Given the description of an element on the screen output the (x, y) to click on. 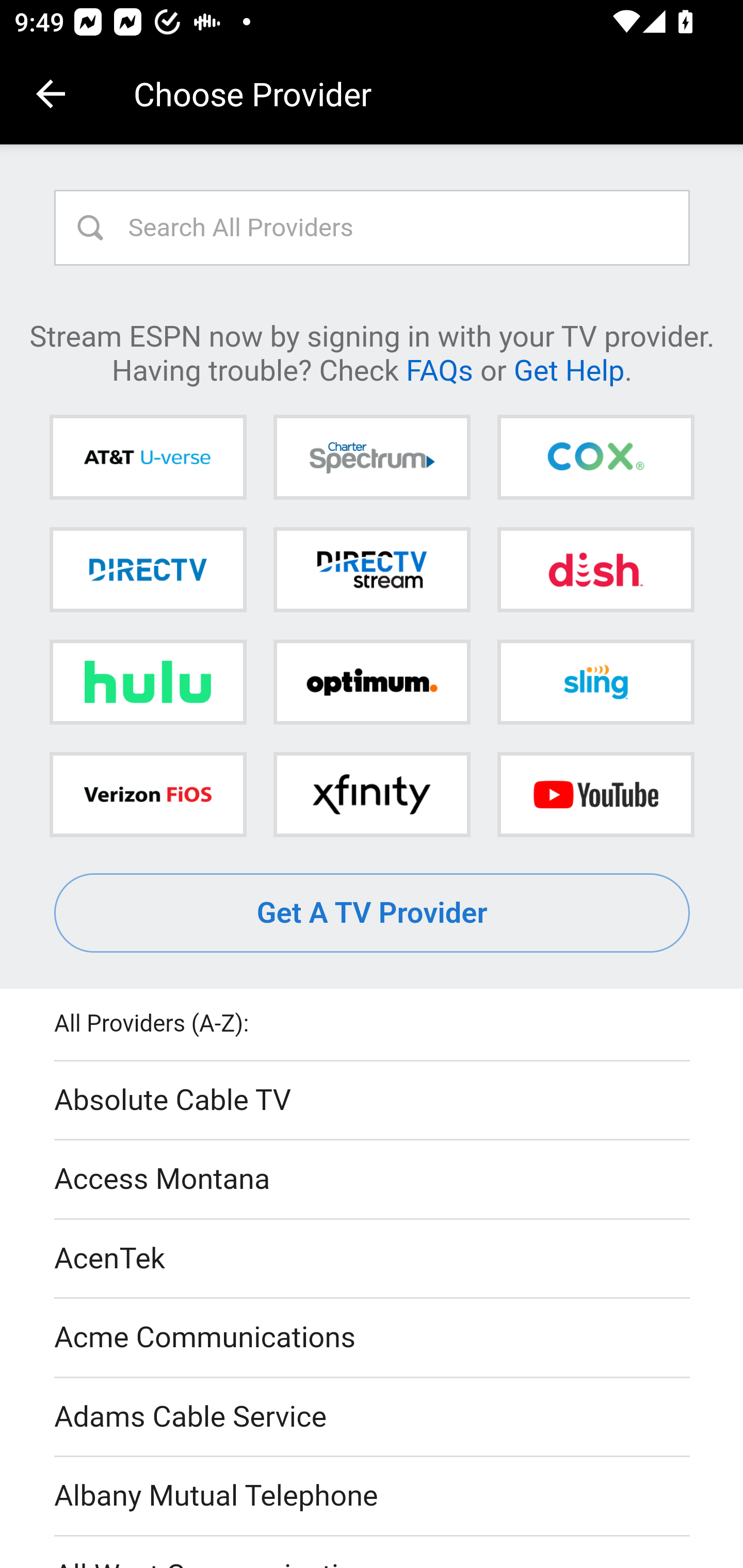
Navigate up (50, 93)
FAQs (438, 369)
Get Help (569, 369)
AT&T U-verse (147, 457)
Charter Spectrum (371, 457)
Cox (595, 457)
DIRECTV (147, 568)
DIRECTV STREAM (371, 568)
DISH (595, 568)
Hulu (147, 681)
Optimum (371, 681)
Sling TV (595, 681)
Verizon FiOS (147, 793)
Xfinity (371, 793)
YouTube TV (595, 793)
Get A TV Provider (372, 912)
Absolute Cable TV (372, 1100)
Access Montana (372, 1178)
AcenTek (372, 1258)
Acme Communications (372, 1338)
Adams Cable Service (372, 1417)
Albany Mutual Telephone (372, 1497)
